Given the description of an element on the screen output the (x, y) to click on. 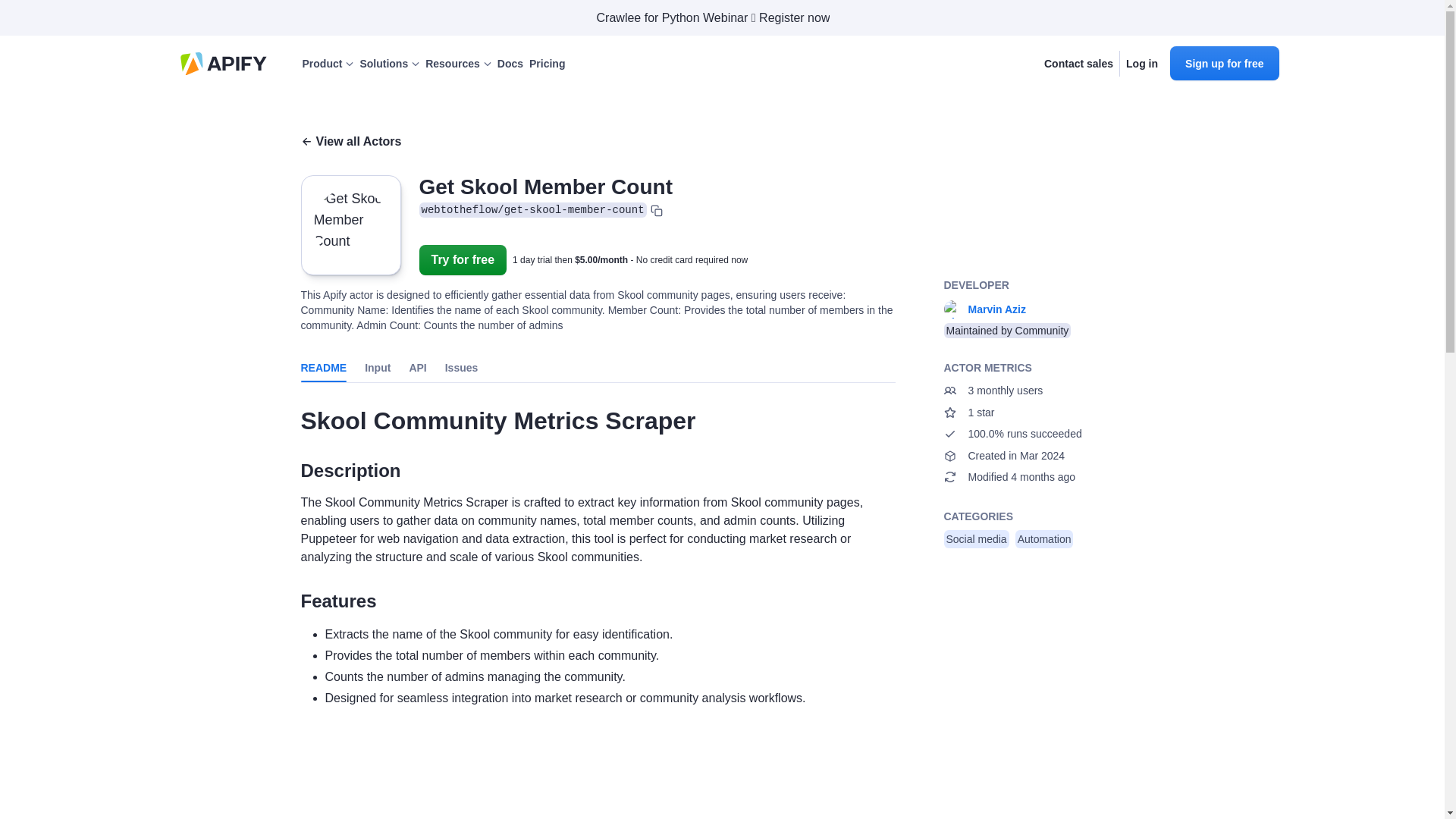
Pricing (546, 63)
Contact sales (1078, 63)
Log in (1141, 63)
Resources (458, 63)
Docs (509, 63)
Sign up for free (1224, 62)
Product (327, 63)
Solutions (389, 63)
